Given the description of an element on the screen output the (x, y) to click on. 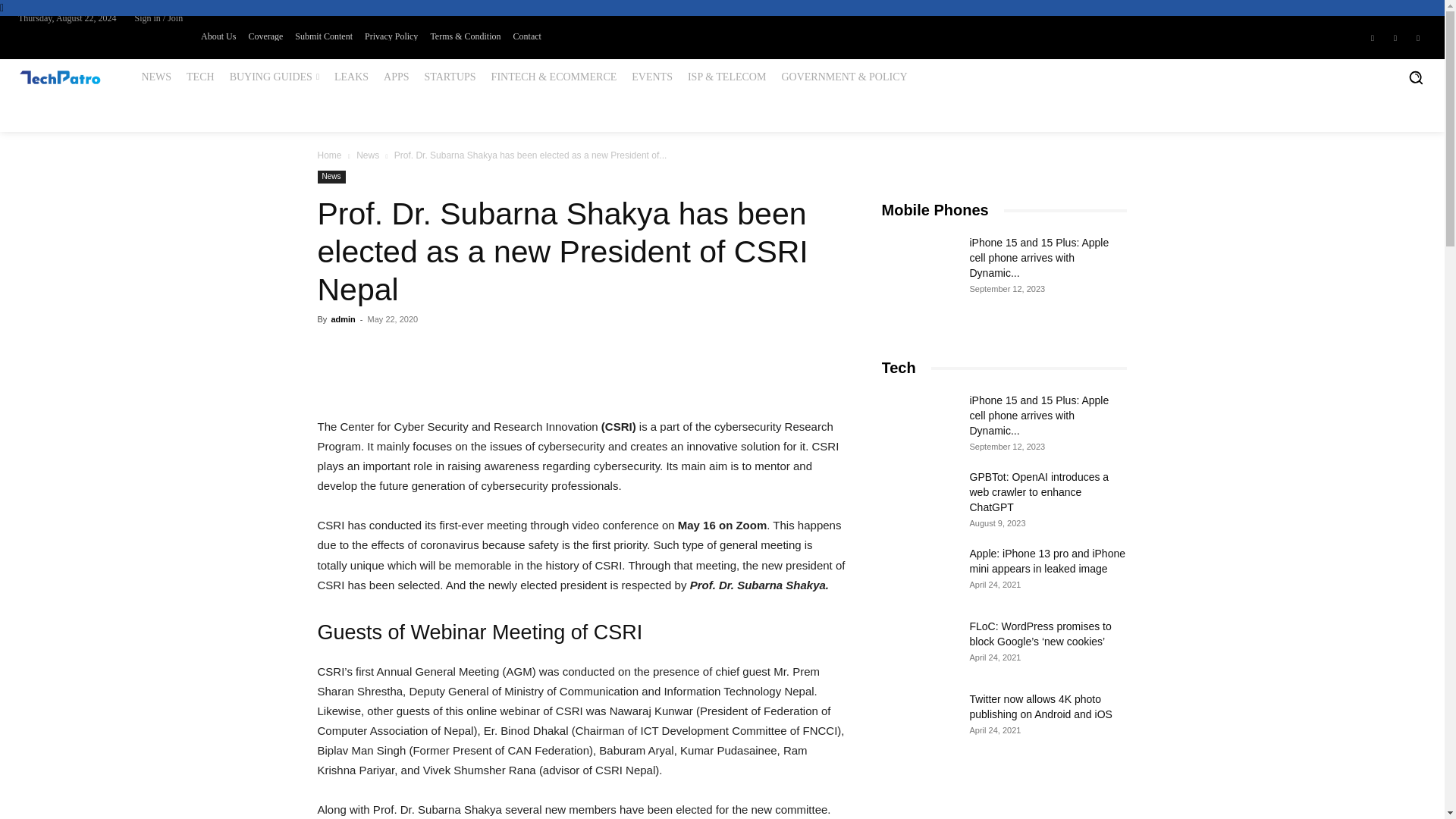
LEAKS (350, 76)
Submit Content (323, 35)
NEWS (156, 76)
STARTUPS (449, 76)
Facebook (1372, 36)
Instagram (1395, 36)
BUYING GUIDES (274, 76)
EVENTS (651, 76)
APPS (395, 76)
About Us (217, 35)
